Given the description of an element on the screen output the (x, y) to click on. 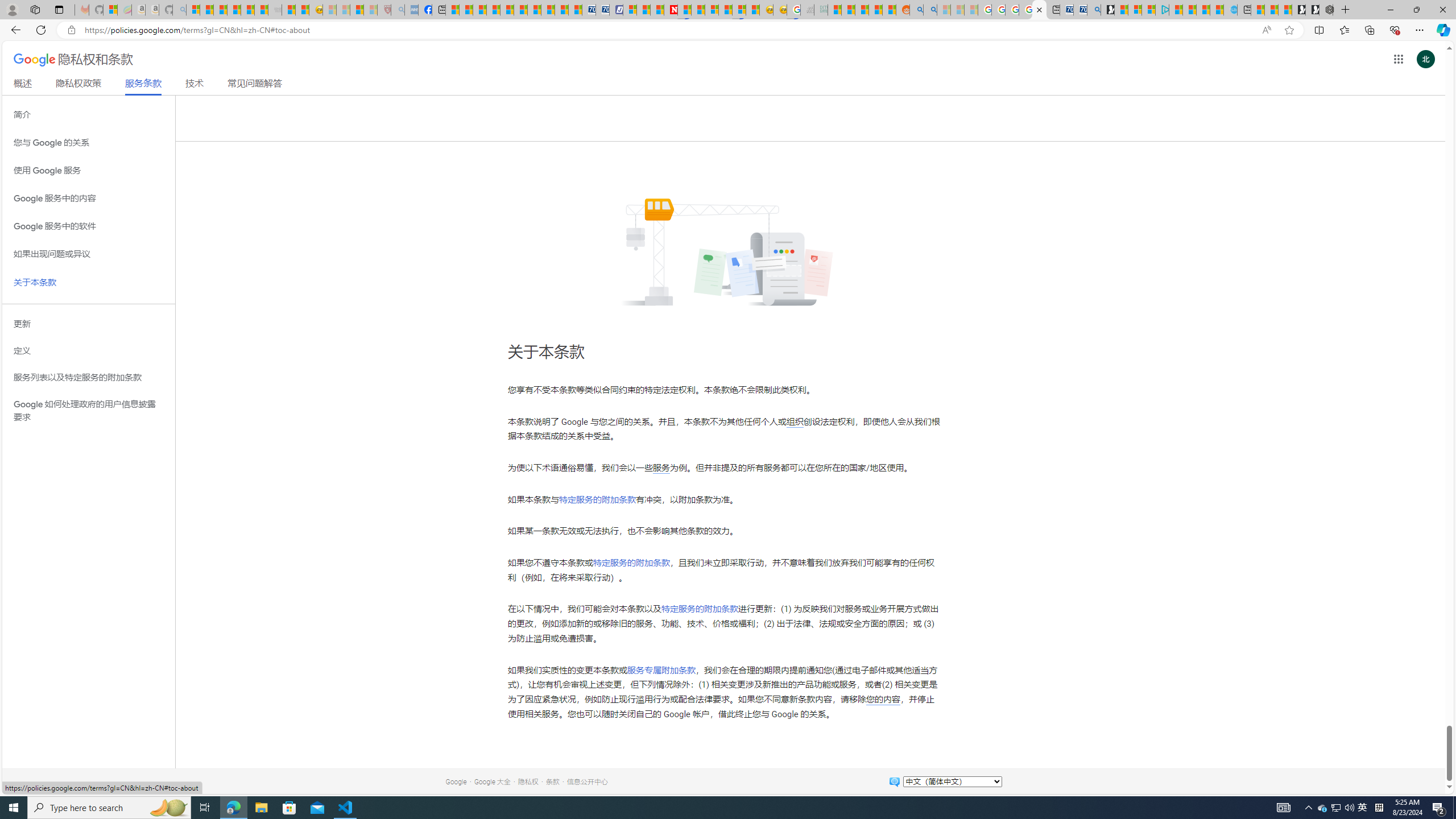
12 Popular Science Lies that Must be Corrected - Sleeping (369, 9)
Combat Siege - Sleeping (274, 9)
